Given the description of an element on the screen output the (x, y) to click on. 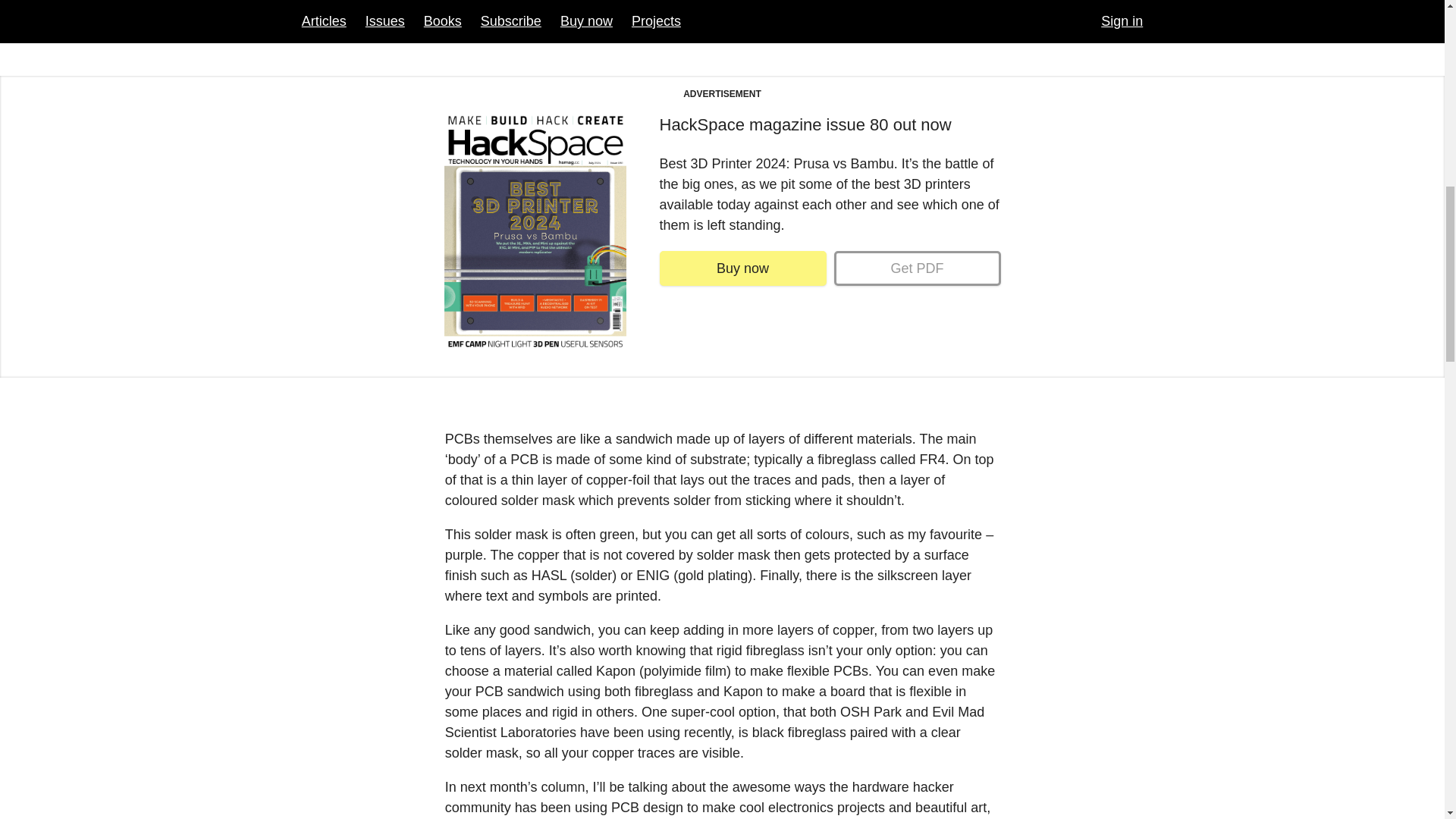
Buy now (743, 267)
Get PDF (917, 267)
